Given the description of an element on the screen output the (x, y) to click on. 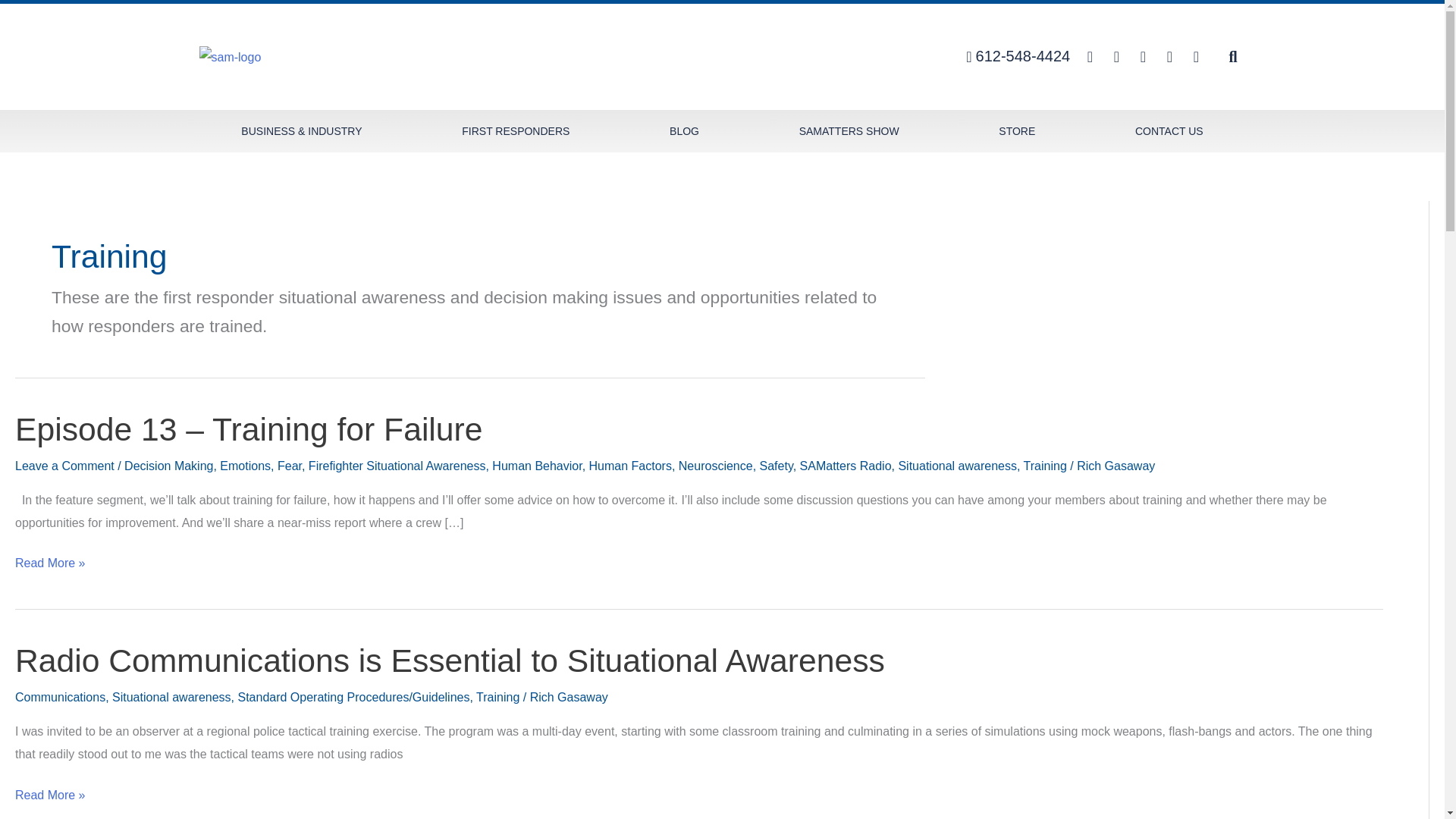
SAMATTERS SHOW (849, 130)
Leave a Comment (64, 465)
Human Behavior (536, 465)
Communications (59, 697)
Situational awareness (957, 465)
sam-logo (229, 56)
Rich Gasaway (1115, 465)
Human Factors (630, 465)
FIRST RESPONDERS (516, 130)
SAMatters Radio (845, 465)
